Given the description of an element on the screen output the (x, y) to click on. 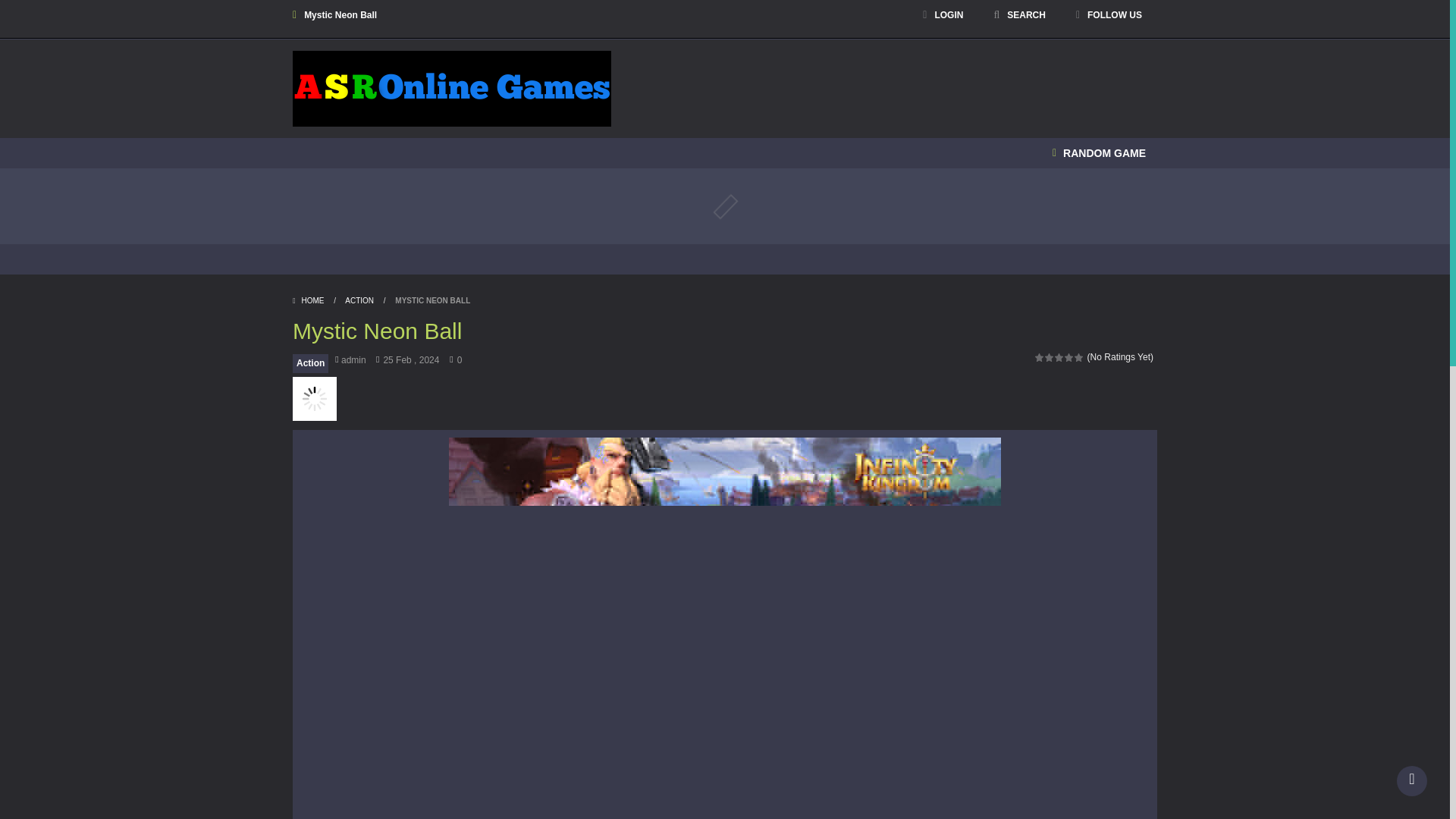
LOGIN (942, 15)
SEARCH (1019, 15)
ASR Online Games (451, 88)
ASR Online Games (451, 87)
Play a random game! (1099, 153)
FOLLOW US (1108, 15)
RANDOM GAME (1099, 153)
